Given the description of an element on the screen output the (x, y) to click on. 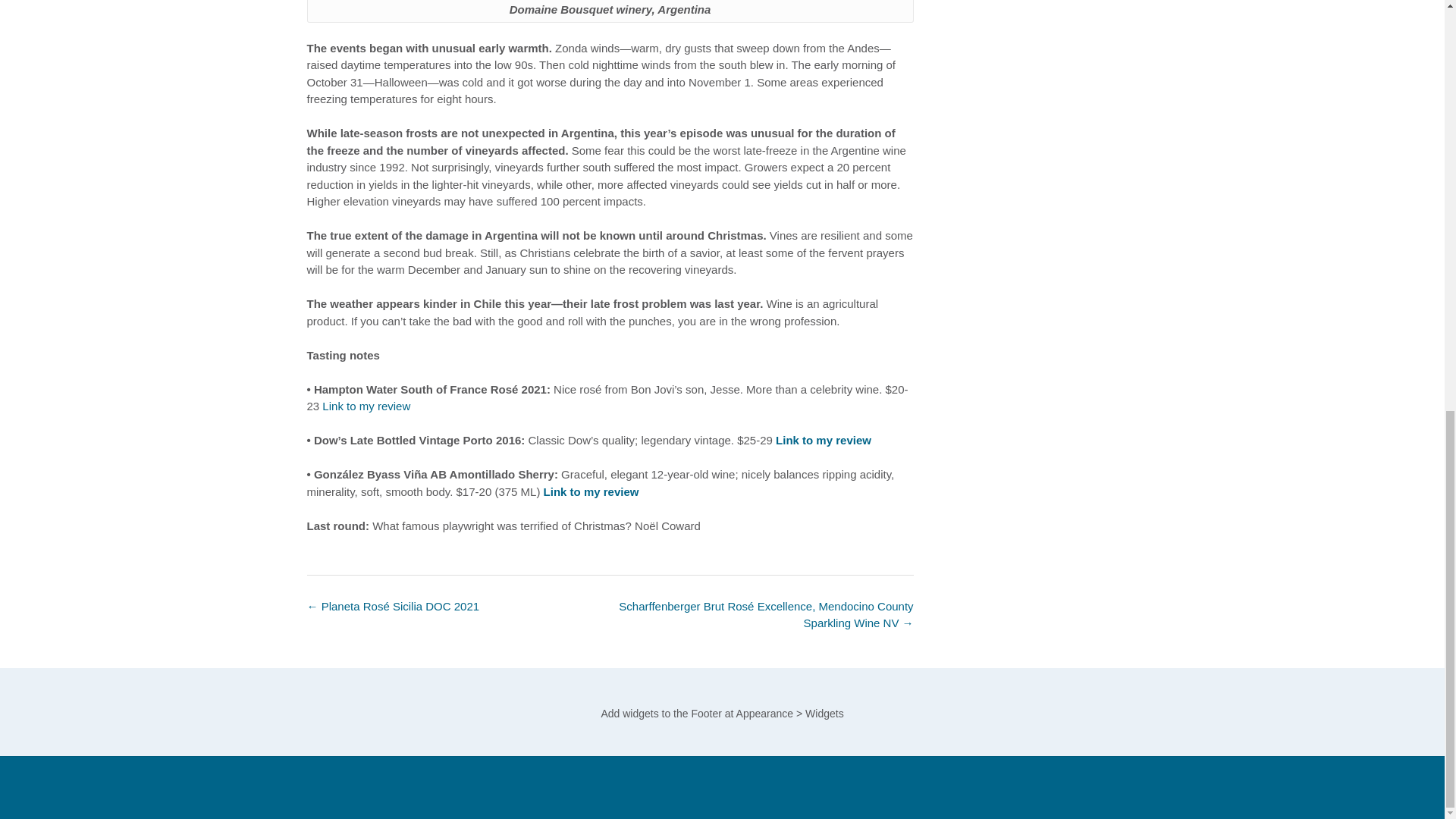
Link to my review (823, 440)
Link to my review (365, 405)
Link to my review (591, 490)
